Given the description of an element on the screen output the (x, y) to click on. 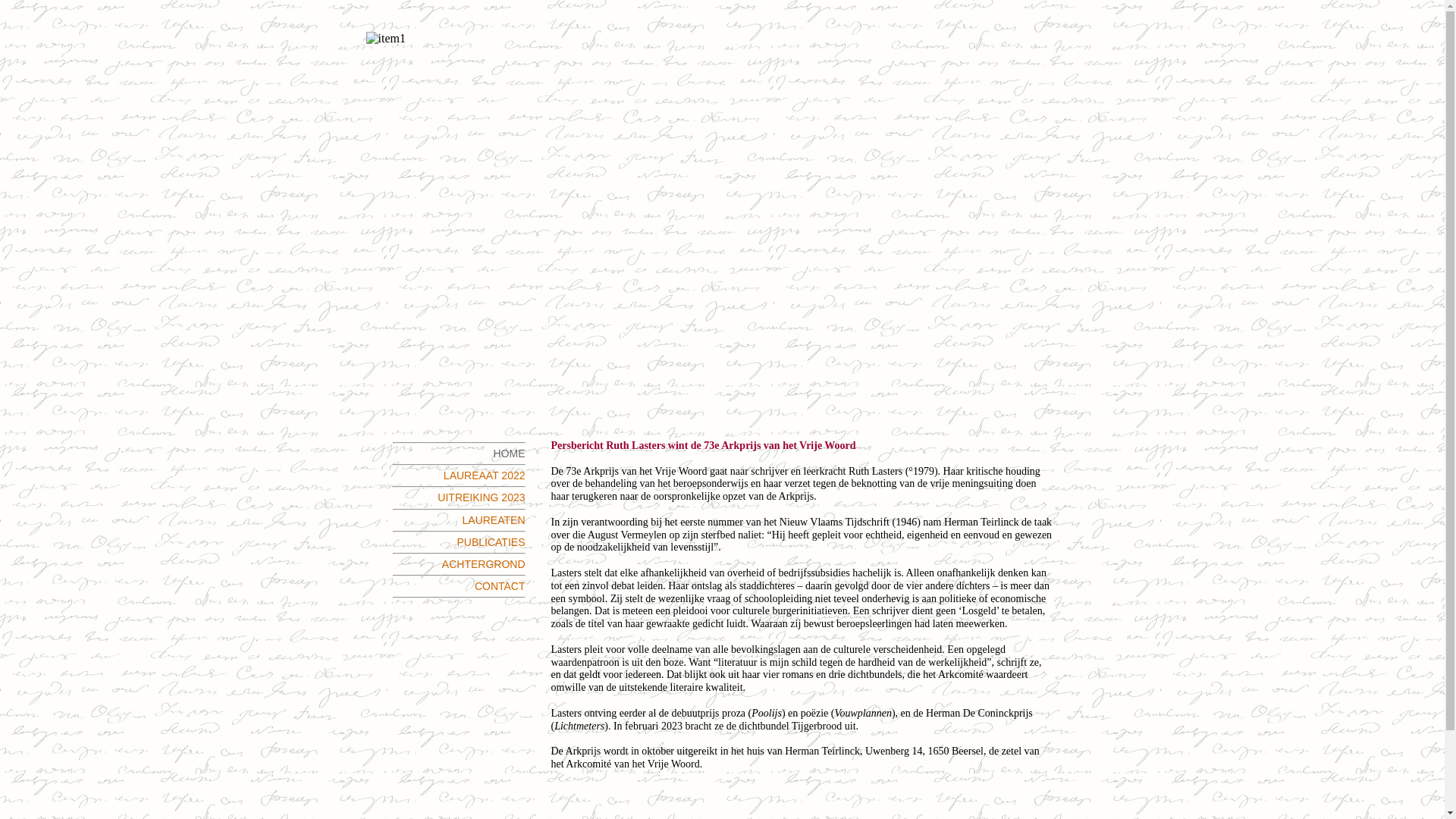
UITREIKING 2023 Element type: text (480, 497)
HOME Element type: text (508, 453)
LAUREATEN Element type: text (493, 520)
ACHTERGROND Element type: text (483, 564)
LAUREAAT 2022 Element type: text (484, 475)
PUBLICATIES Element type: text (490, 542)
CONTACT Element type: text (499, 586)
